Given the description of an element on the screen output the (x, y) to click on. 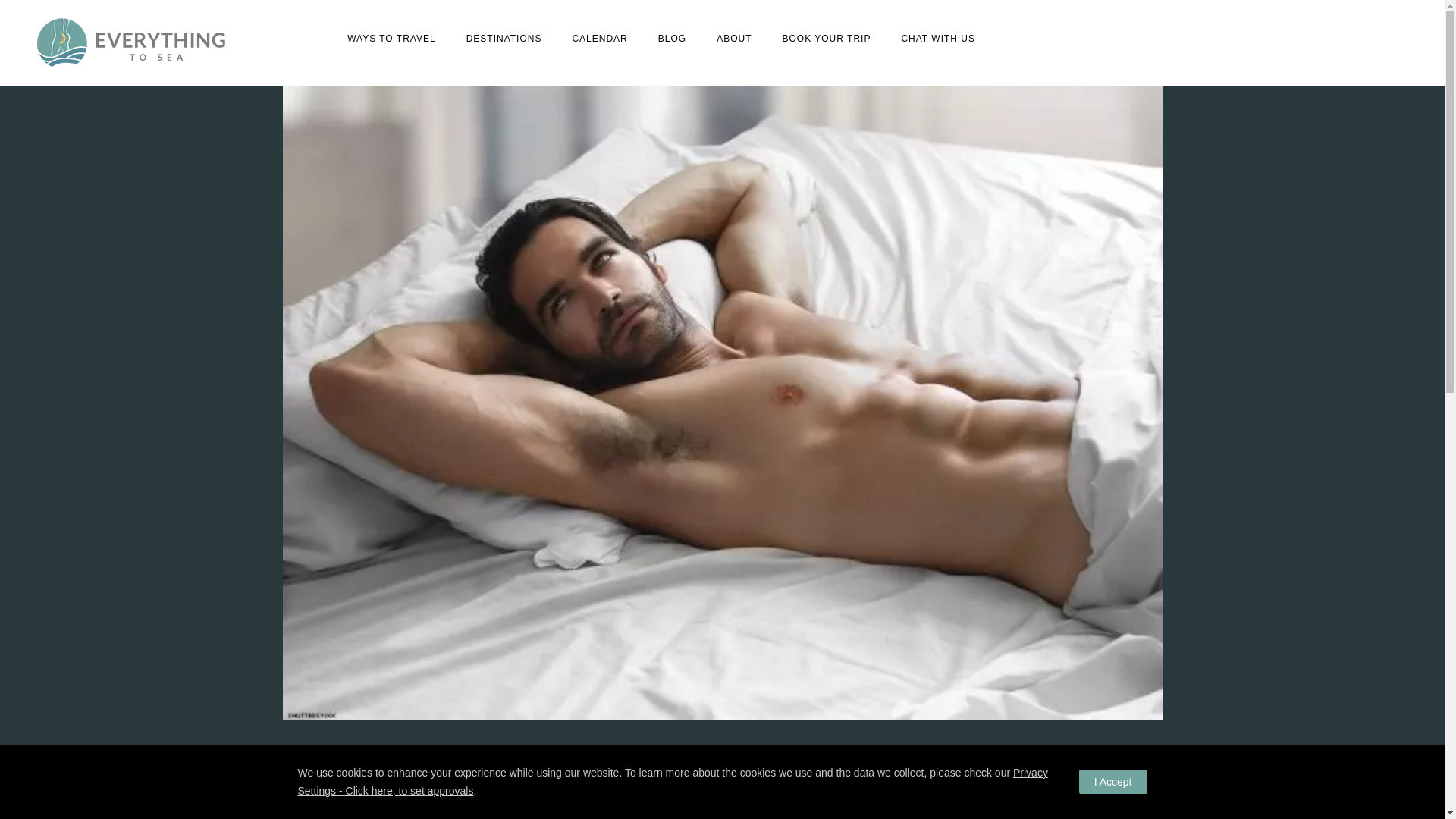
BOOK YOUR TRIP (826, 38)
WAYS TO TRAVEL (390, 38)
Hedonism (706, 751)
WAYS TO TRAVEL (390, 38)
August 7,2021 (794, 808)
DESTINATIONS (504, 38)
BLOG (672, 38)
BOOK YOUR TRIP (826, 38)
CALENDAR (599, 38)
ABOUT (734, 38)
